Given the description of an element on the screen output the (x, y) to click on. 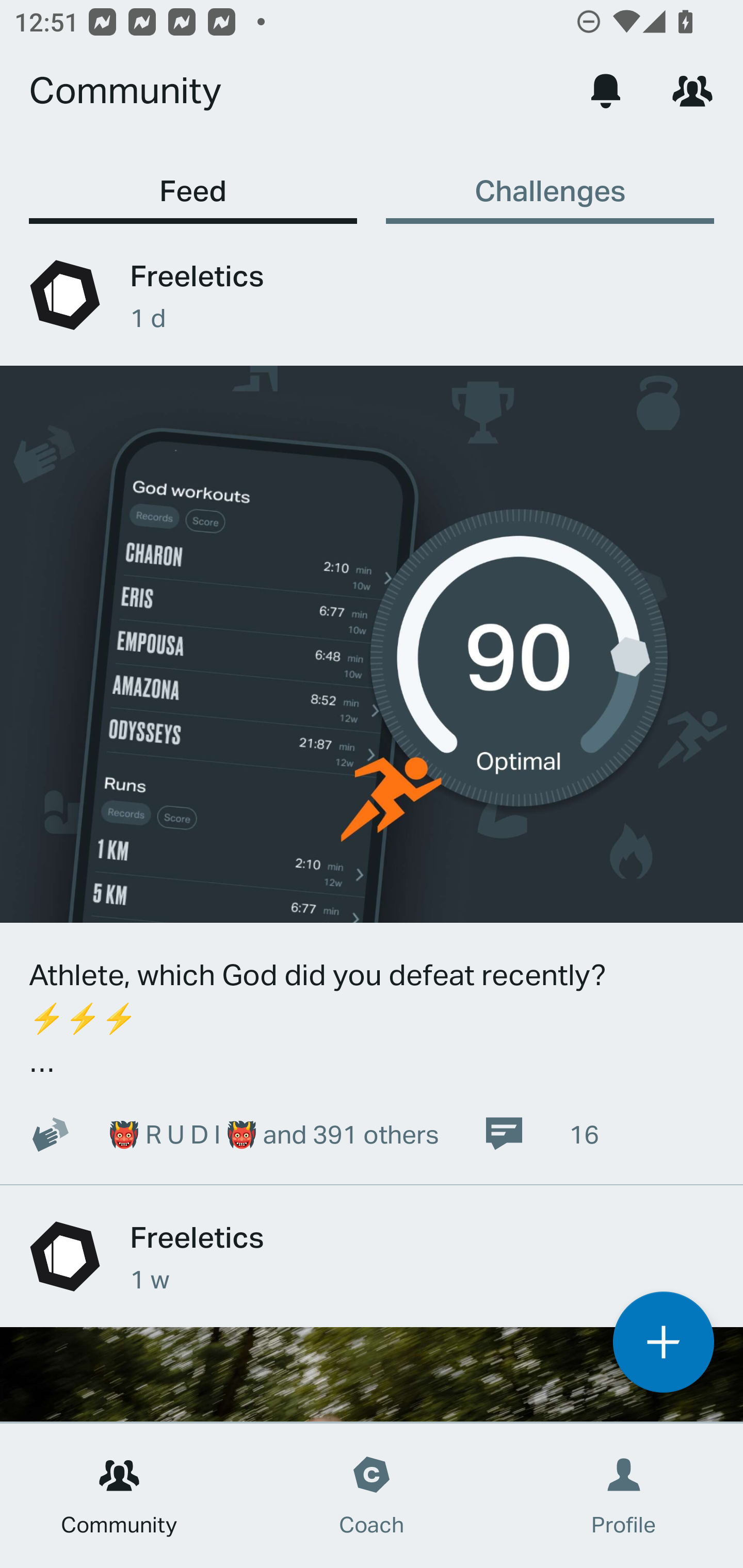
Notifications (605, 90)
Network (692, 90)
Feed (192, 180)
Challenges (549, 180)
👹 R U D I 👹 and 391 others (223, 1133)
16 (540, 1133)
Coach (371, 1495)
Profile (624, 1495)
